Given the description of an element on the screen output the (x, y) to click on. 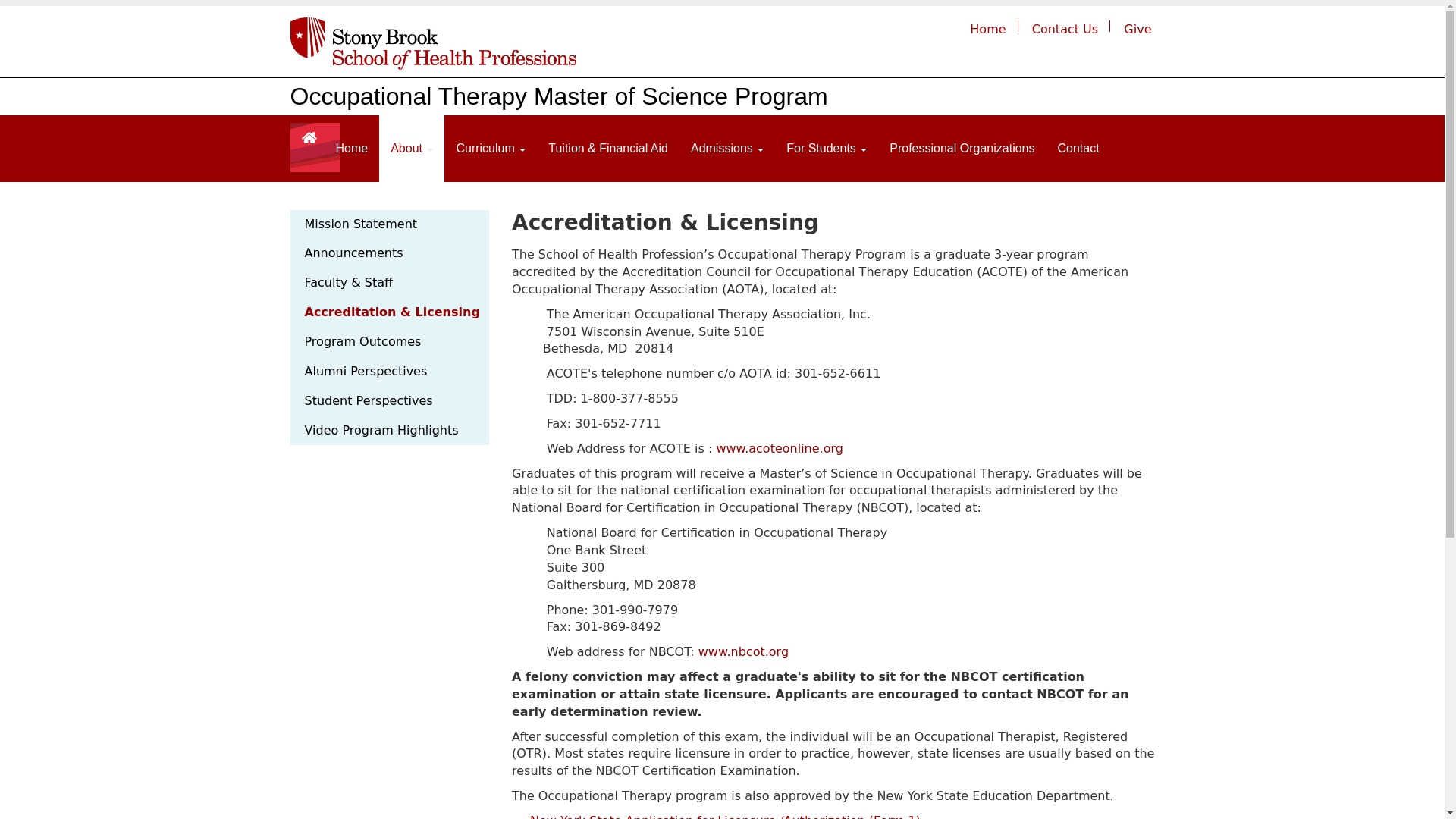
Occupational Therapy Master of Science Program (558, 95)
For Students (825, 148)
Home (987, 29)
Admissions (726, 148)
Contact (1077, 148)
Mission Statement (389, 224)
Professional Organizations (961, 148)
About (411, 148)
Give (1137, 29)
Contact Us (1064, 29)
